Given the description of an element on the screen output the (x, y) to click on. 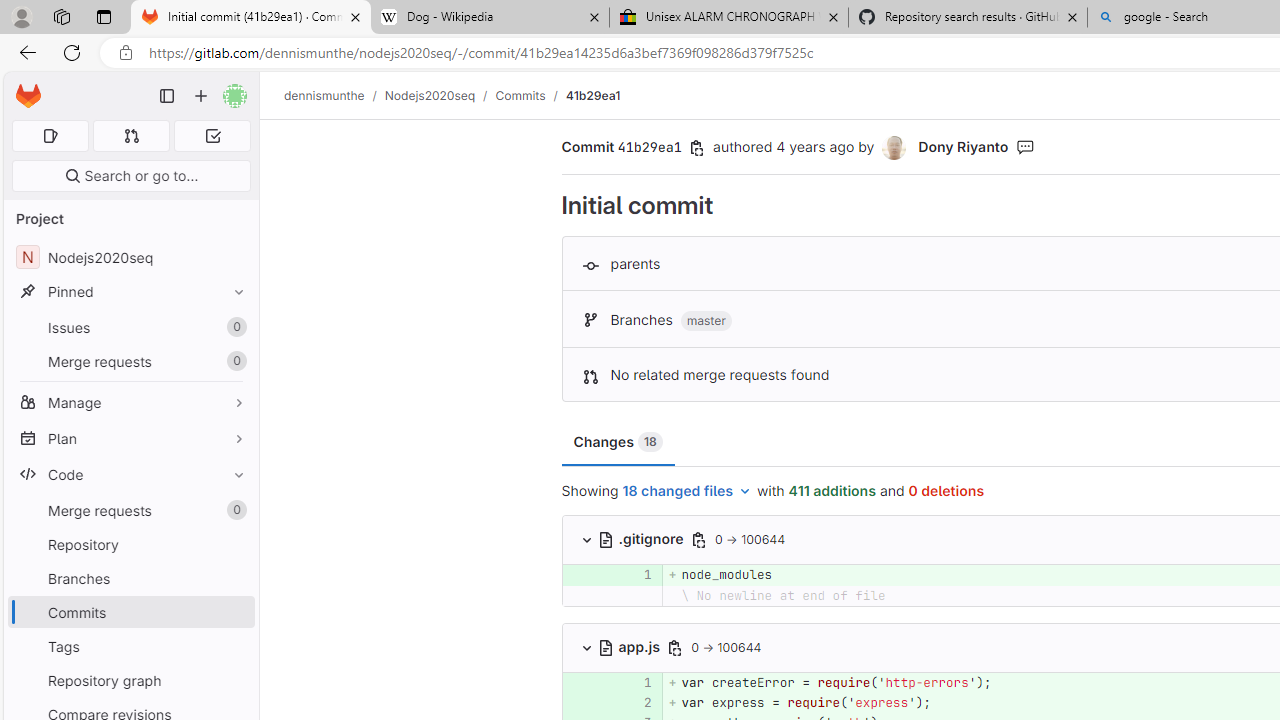
Pin Commits (234, 611)
Repository graph (130, 679)
18 changed files (687, 491)
41b29ea1 (592, 95)
dennismunthe (324, 95)
Tags (130, 646)
Dony Riyanto's avatar (894, 148)
Class: s12 (562, 700)
Dog - Wikipedia (490, 17)
Unpin Issues (234, 327)
Copy file path (675, 647)
41b29ea1 (592, 95)
